Given the description of an element on the screen output the (x, y) to click on. 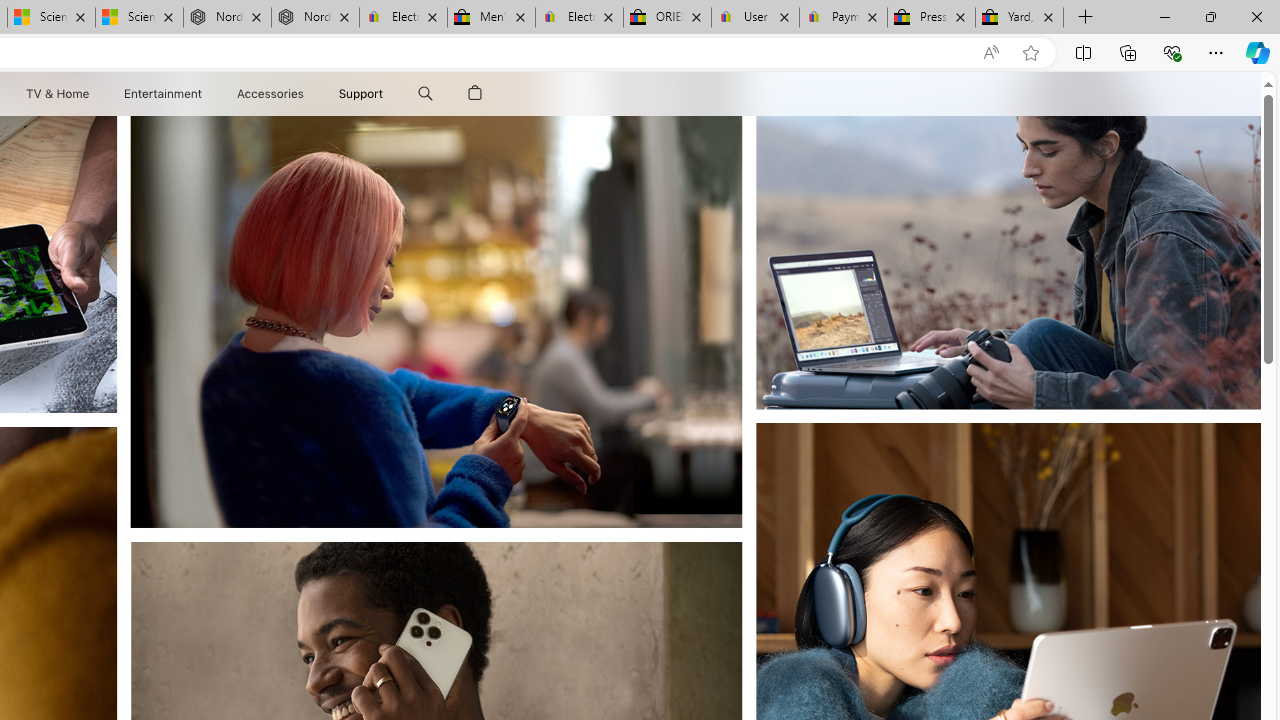
Press Room - eBay Inc. (931, 17)
Class: globalnav-item globalnav-search shift-0-1 (425, 93)
AutomationID: globalnav-bag (475, 93)
Accessories (269, 93)
TV and Home (56, 93)
TV and Home menu (92, 93)
Nordace - Summer Adventures 2024 (315, 17)
